Given the description of an element on the screen output the (x, y) to click on. 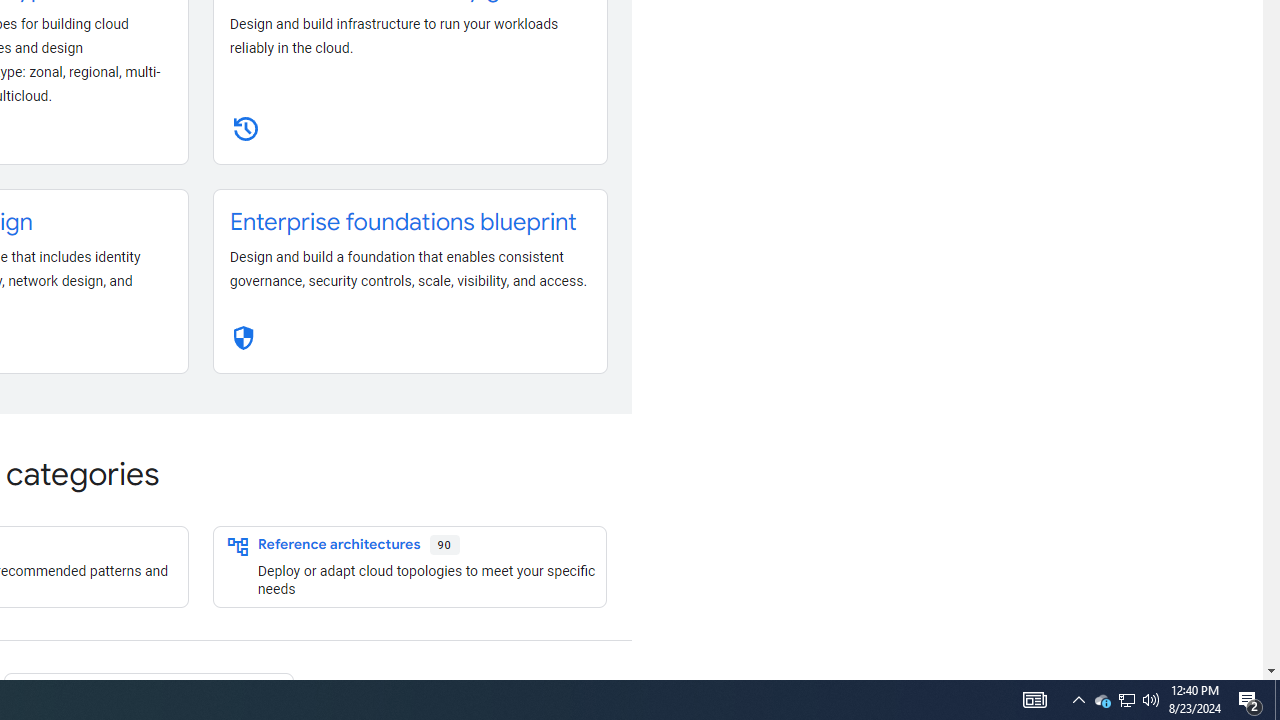
Enterprise foundations blueprint (403, 221)
